Given the description of an element on the screen output the (x, y) to click on. 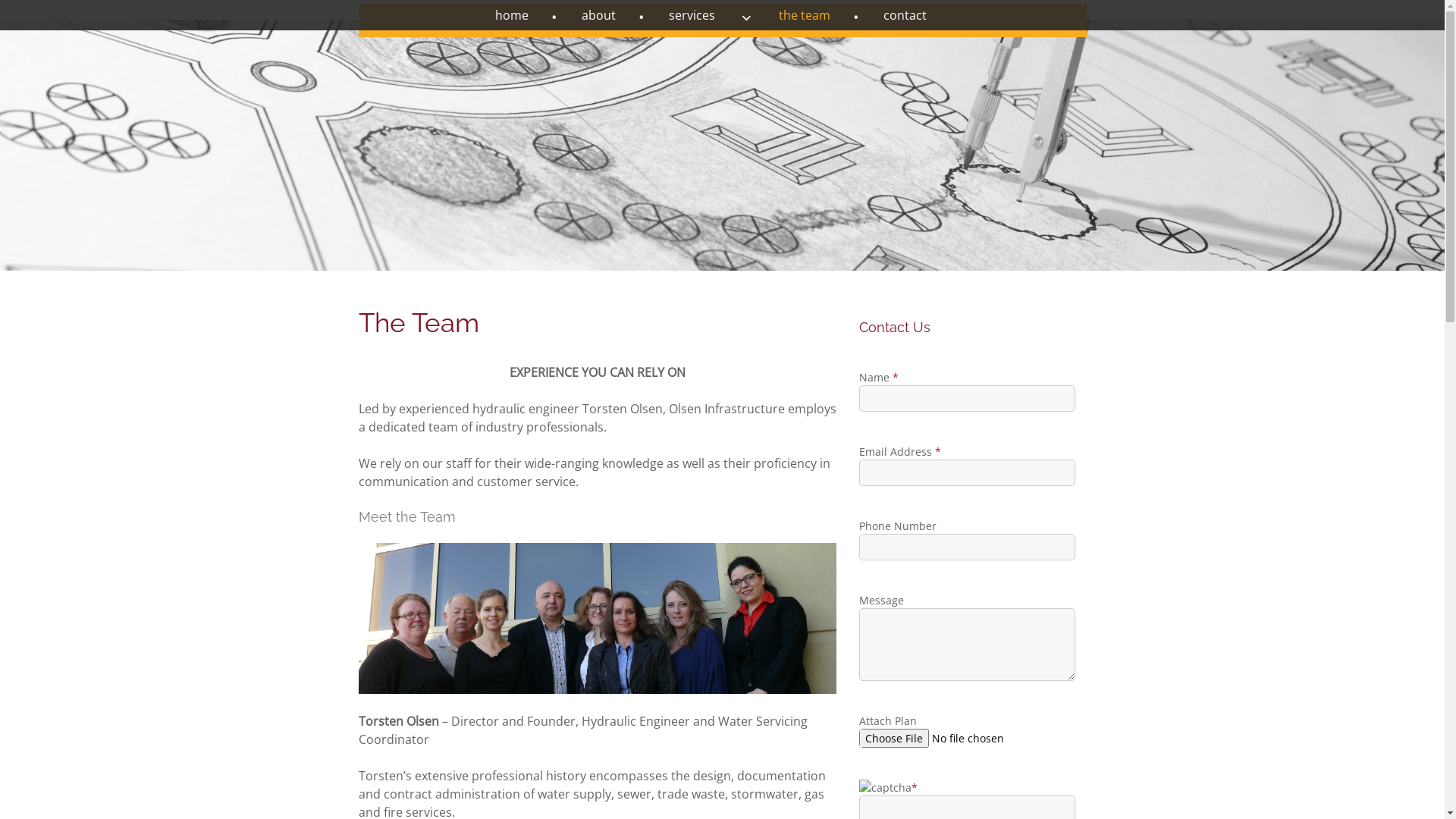
home Element type: text (526, 15)
about Element type: text (612, 15)
contact Element type: text (916, 15)
the team Element type: text (818, 15)
services Element type: text (711, 15)
